Given the description of an element on the screen output the (x, y) to click on. 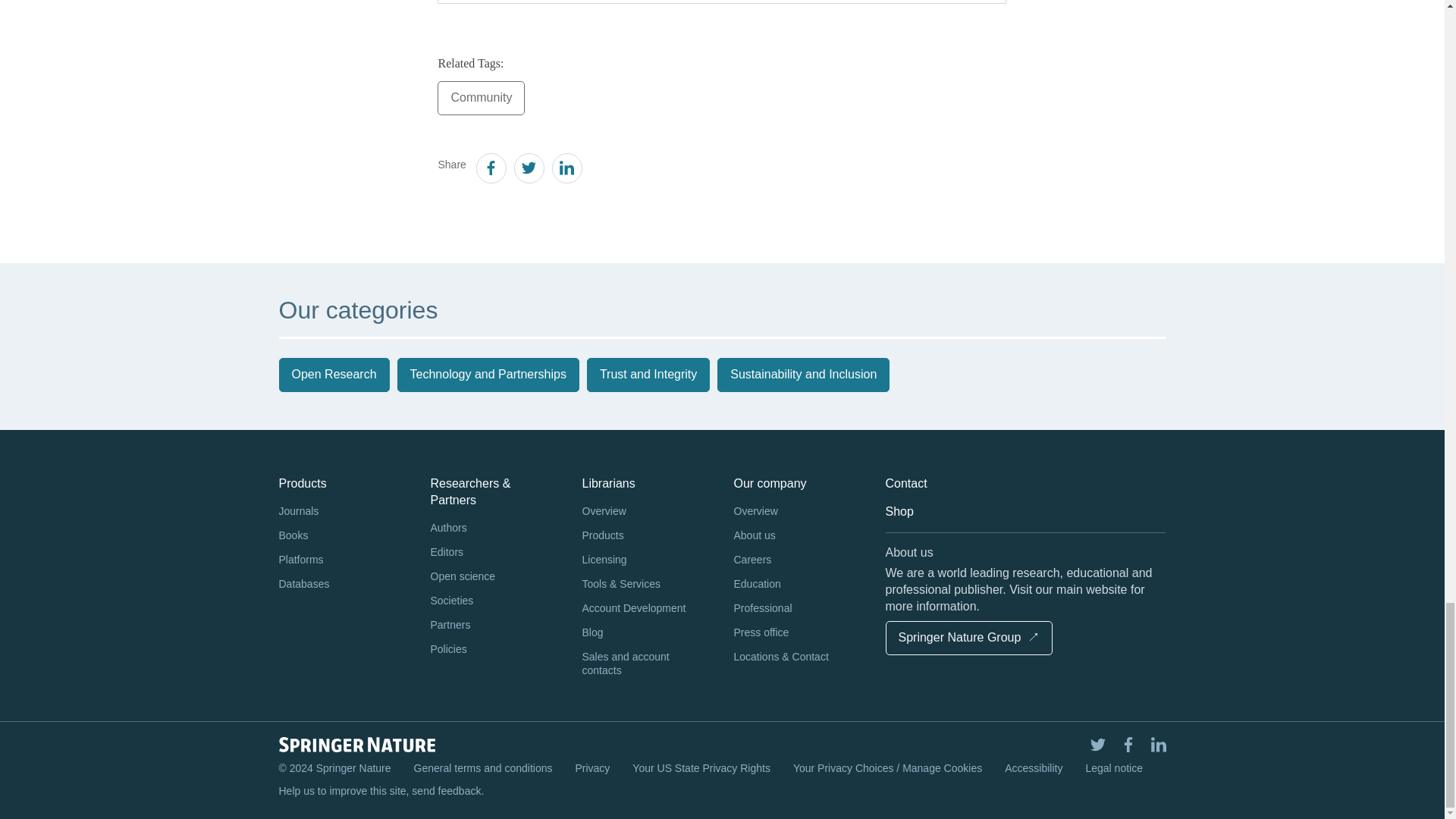
linkedin (566, 170)
twitter (528, 170)
facebook (490, 170)
